Given the description of an element on the screen output the (x, y) to click on. 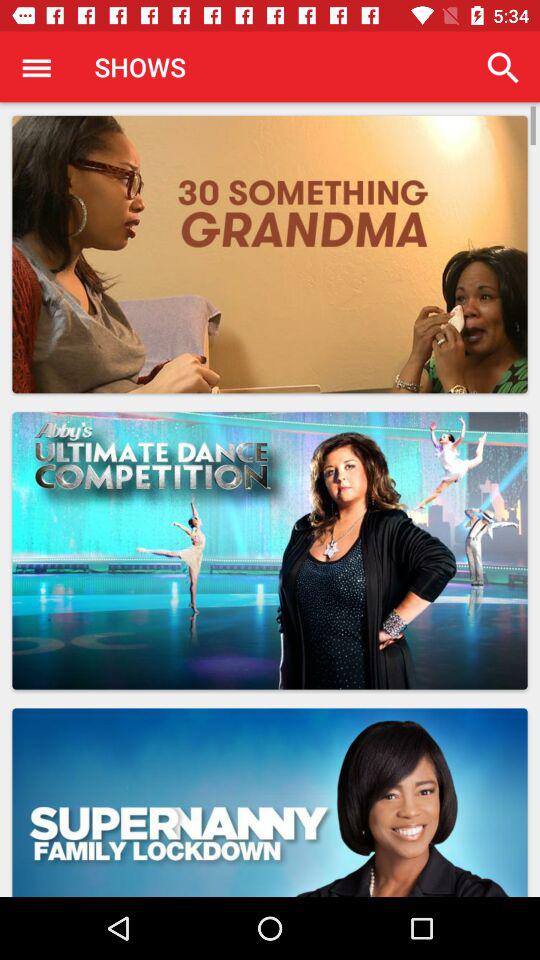
press the item to the left of the shows app (36, 67)
